Given the description of an element on the screen output the (x, y) to click on. 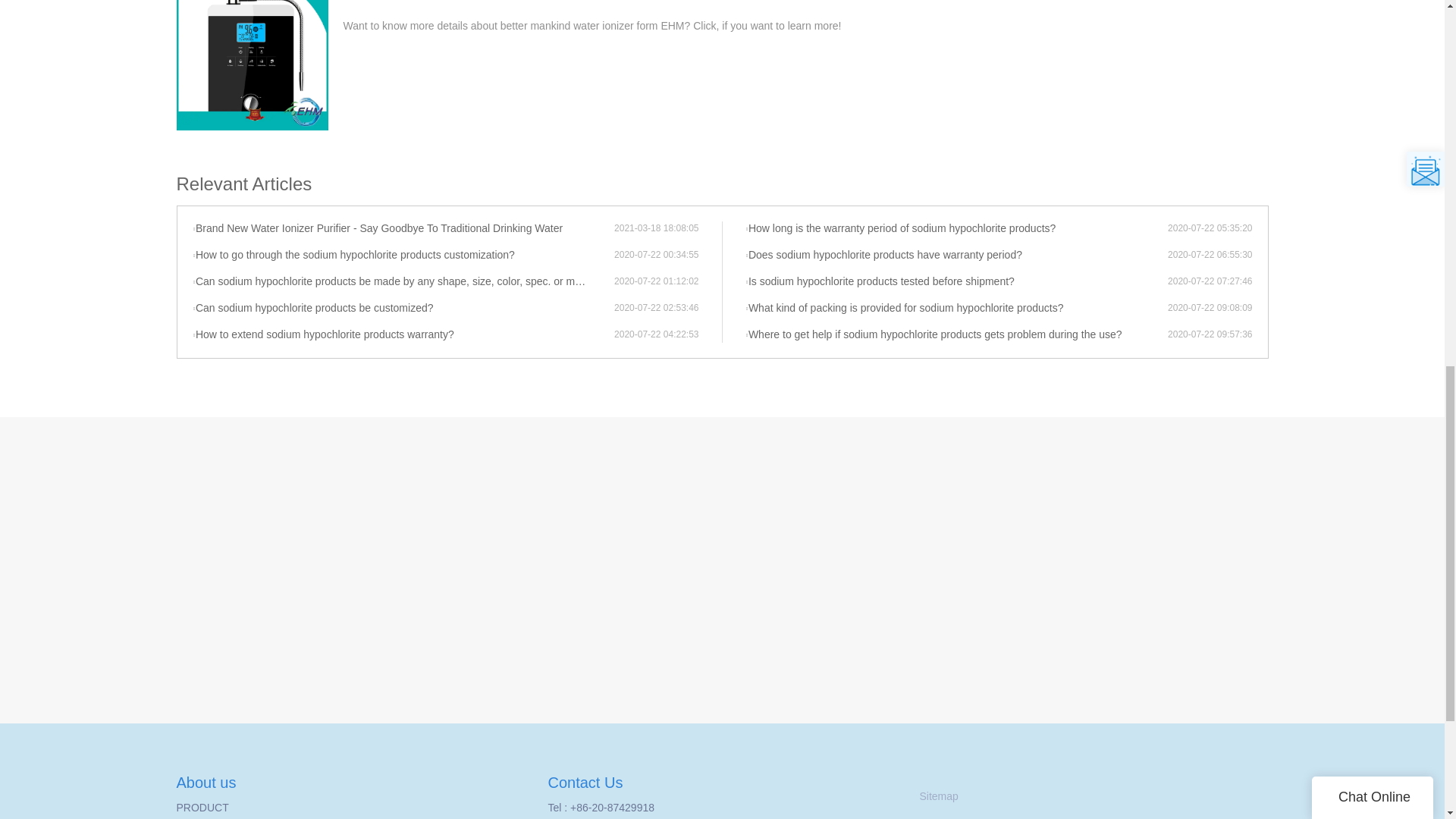
Is sodium hypochlorite products tested before shipment? (955, 281)
Does sodium hypochlorite products have warranty period? (955, 255)
How to extend sodium hypochlorite products warranty? (403, 335)
Can sodium hypochlorite products be customized? (403, 308)
